Given the description of an element on the screen output the (x, y) to click on. 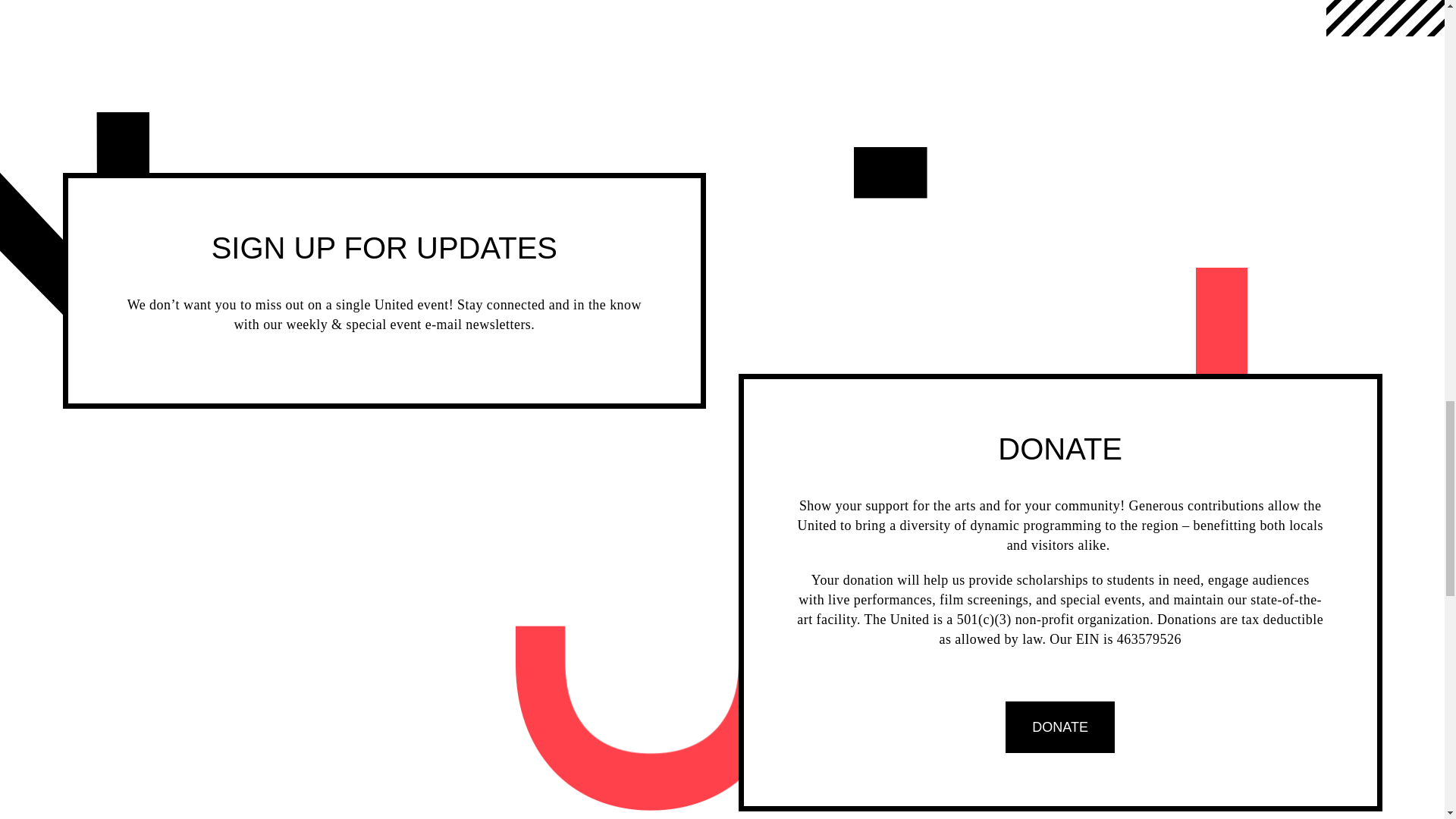
DONATE (1060, 726)
